Given the description of an element on the screen output the (x, y) to click on. 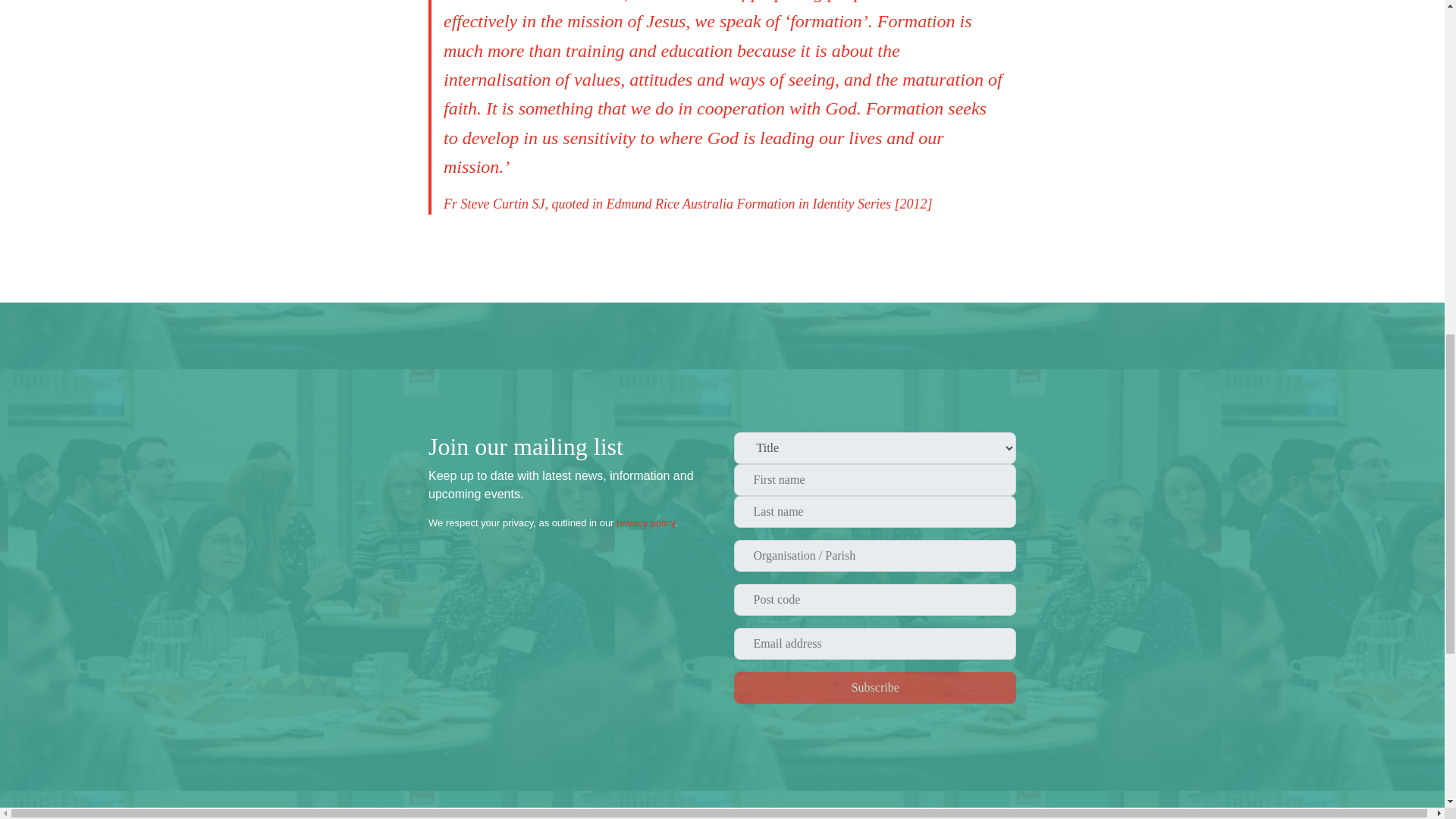
Subscribe (874, 687)
privacy policy (645, 522)
Subscribe (874, 687)
